Given the description of an element on the screen output the (x, y) to click on. 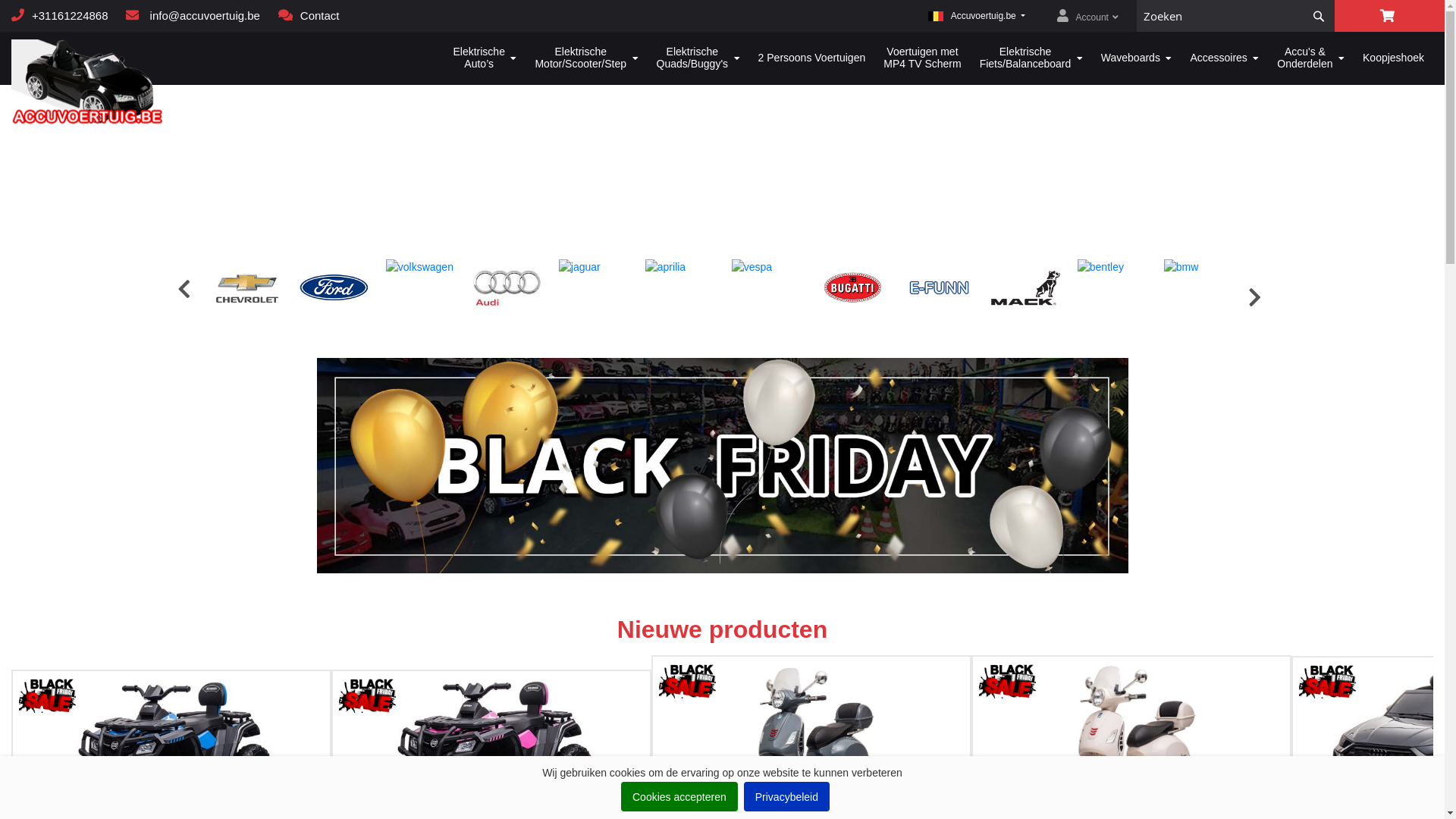
2 Persoons Voertuigen Element type: text (812, 56)
info@accuvoertuig.be Element type: text (192, 15)
Previous Element type: text (5, 793)
Next Element type: text (1249, 295)
Voertuigen met
MP4 TV Scherm Element type: text (921, 56)
Cookies accepteren Element type: text (679, 796)
+31161224868 Element type: text (59, 15)
Accessoires Element type: text (1223, 56)
Elektrische
Motor/Scooter/Step Element type: text (585, 56)
Contact Element type: text (308, 15)
Koopjeshoek Element type: text (1393, 56)
Waveboards Element type: text (1136, 56)
Elektrische
Fiets/Balanceboard Element type: text (1031, 56)
Privacybeleid Element type: text (786, 796)
Previous Element type: text (182, 287)
Accuvoortuig.be Element type: hover (129, 58)
Accuvoertuig.be Element type: text (976, 15)
Next Element type: text (1427, 801)
Account Element type: text (1087, 17)
Search Element type: text (1318, 15)
Elektrische
Quads/Buggy's Element type: text (698, 56)
Accu's &
Onderdelen Element type: text (1310, 56)
Accuvoortuig.be Element type: hover (87, 82)
